Given the description of an element on the screen output the (x, y) to click on. 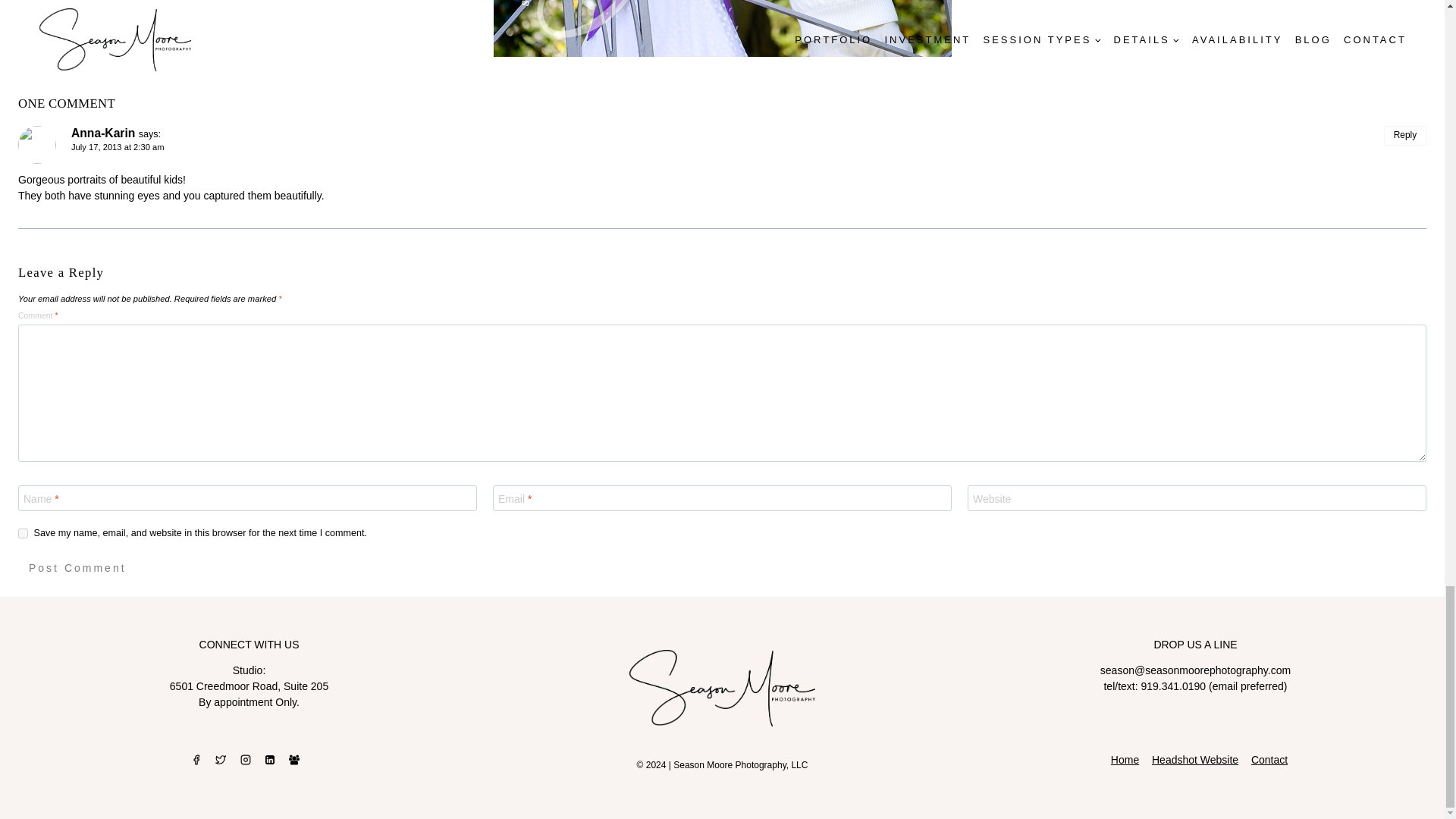
yes (22, 533)
Anna-Karin (103, 132)
July 17, 2013 at 2:30 am (117, 146)
Reply (1405, 135)
Post Comment (76, 568)
Brother and Sister outside purple (721, 28)
